Given the description of an element on the screen output the (x, y) to click on. 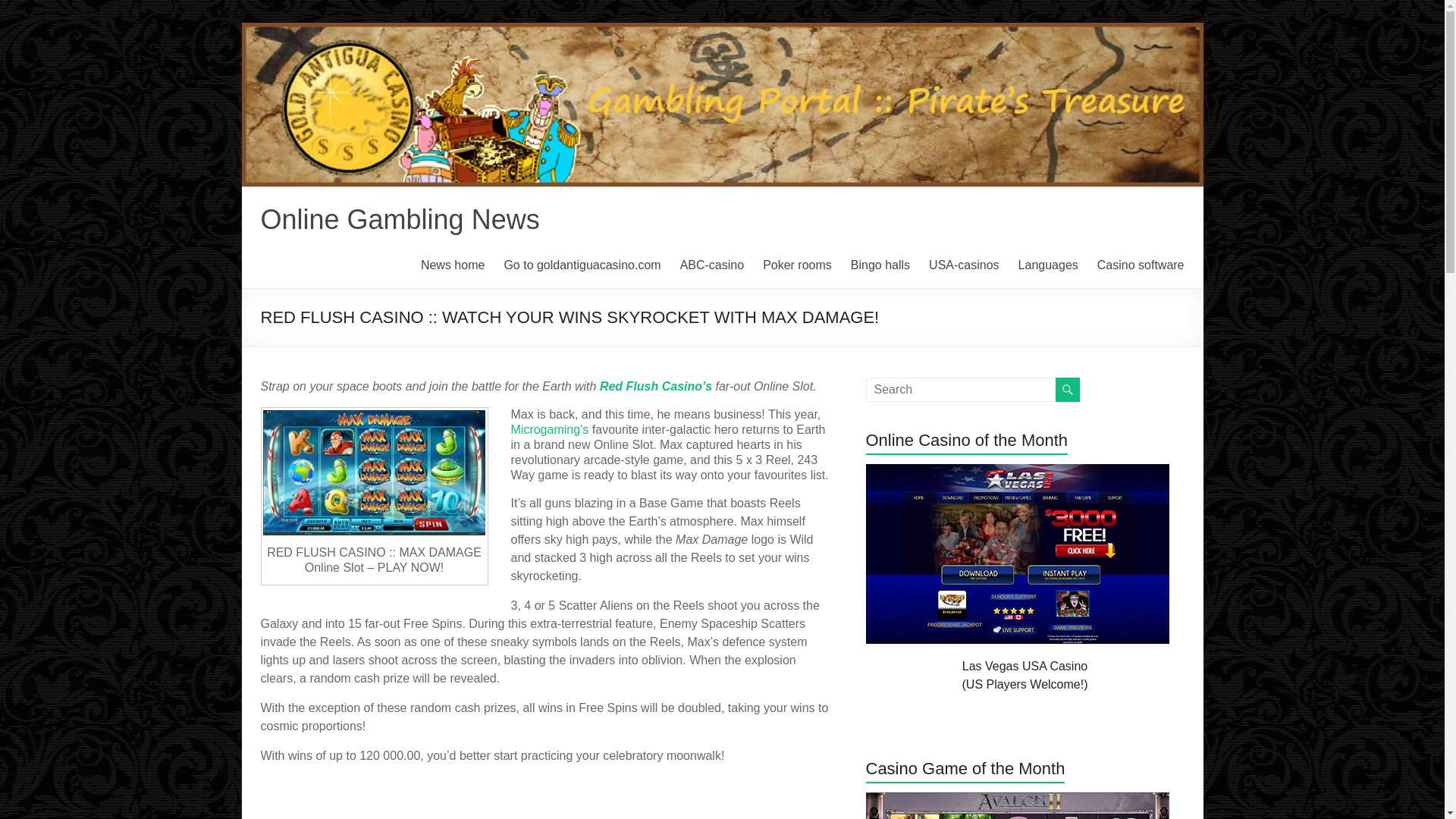
Play Casino Games at Las Vegas USA Casino (1017, 471)
Bingo halls (880, 264)
USA-casinos (963, 264)
News home (452, 264)
Online Gambling News (400, 219)
Languages (1047, 264)
Bingo halls (880, 264)
Poker rooms (796, 264)
ABC-casino (711, 264)
Go to goldantiguacasino.com (582, 264)
Go to goldantiguacasino.com (582, 264)
Online Gambling News (400, 219)
ABC-casino (711, 264)
News home (452, 264)
